Given the description of an element on the screen output the (x, y) to click on. 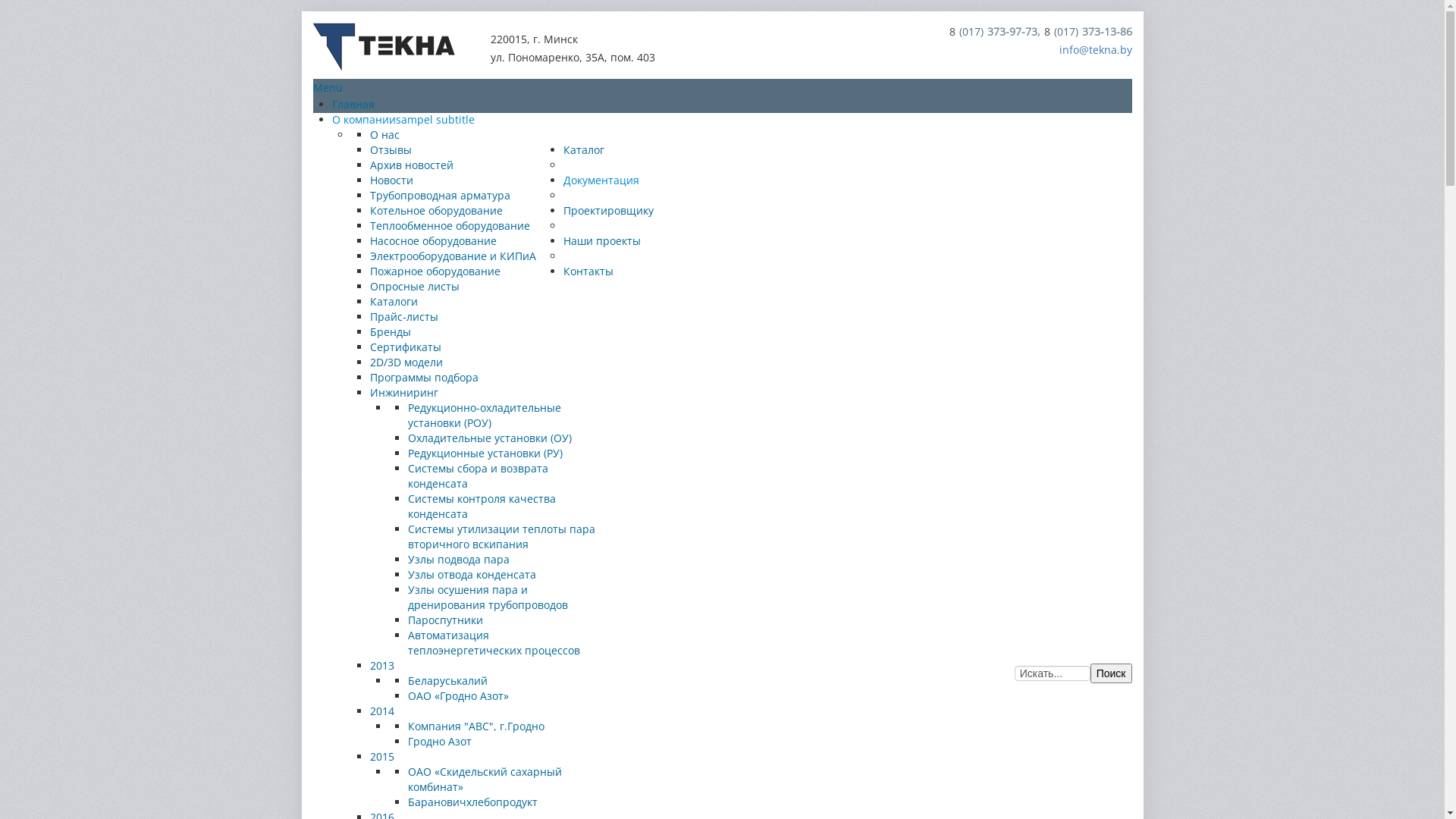
info@tekna.by Element type: text (1094, 49)
Menu Element type: text (327, 87)
2013 Element type: text (382, 665)
2014 Element type: text (382, 710)
2015 Element type: text (382, 756)
